Given the description of an element on the screen output the (x, y) to click on. 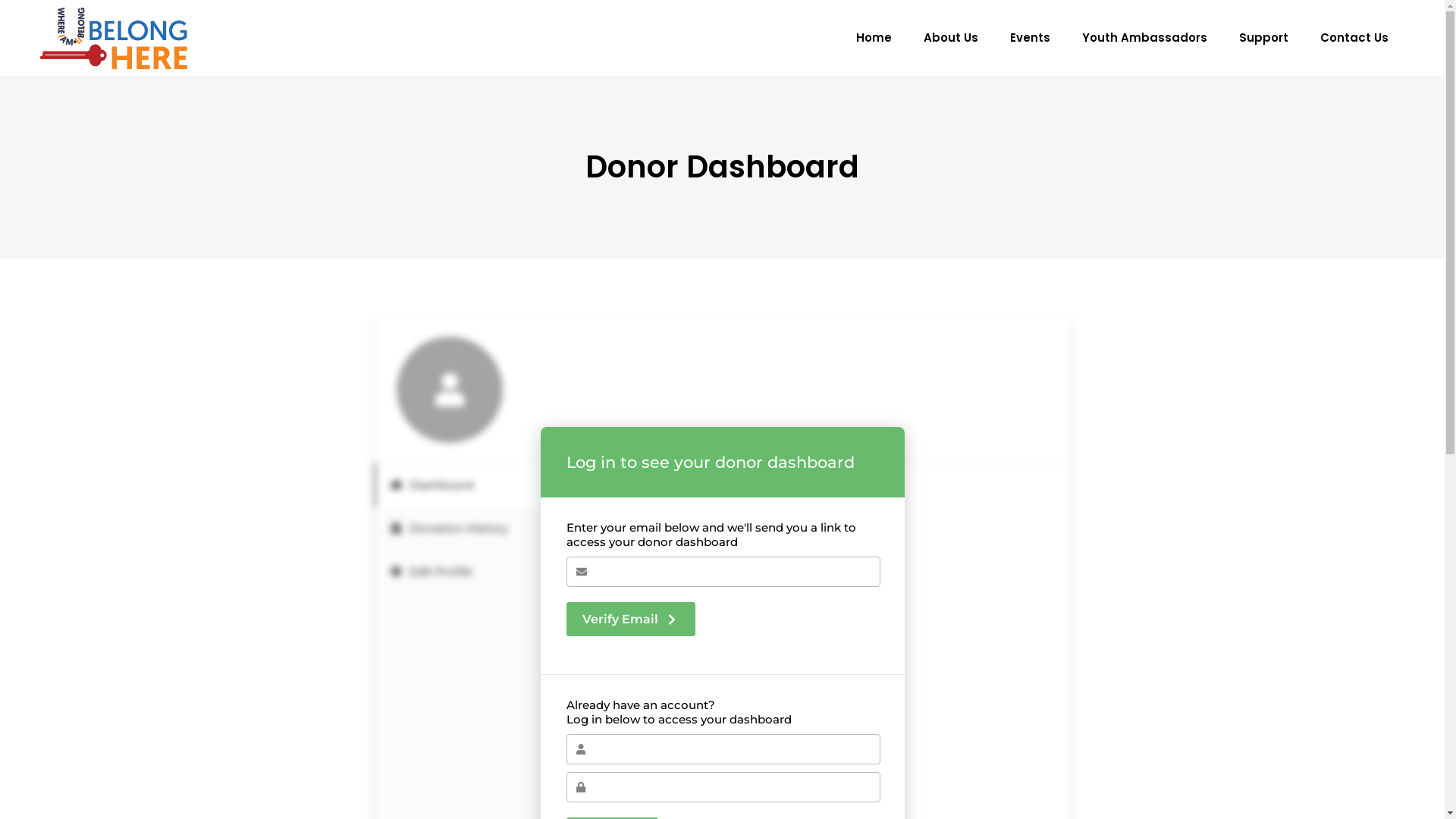
About Us Element type: text (950, 37)
Events Element type: text (1030, 37)
Support Element type: text (1263, 37)
Home Element type: text (873, 37)
info@ubelonghere.com.au Element type: text (721, 676)
Youth Ambassadors Element type: text (1144, 37)
Contact Us Element type: text (1354, 37)
